Given the description of an element on the screen output the (x, y) to click on. 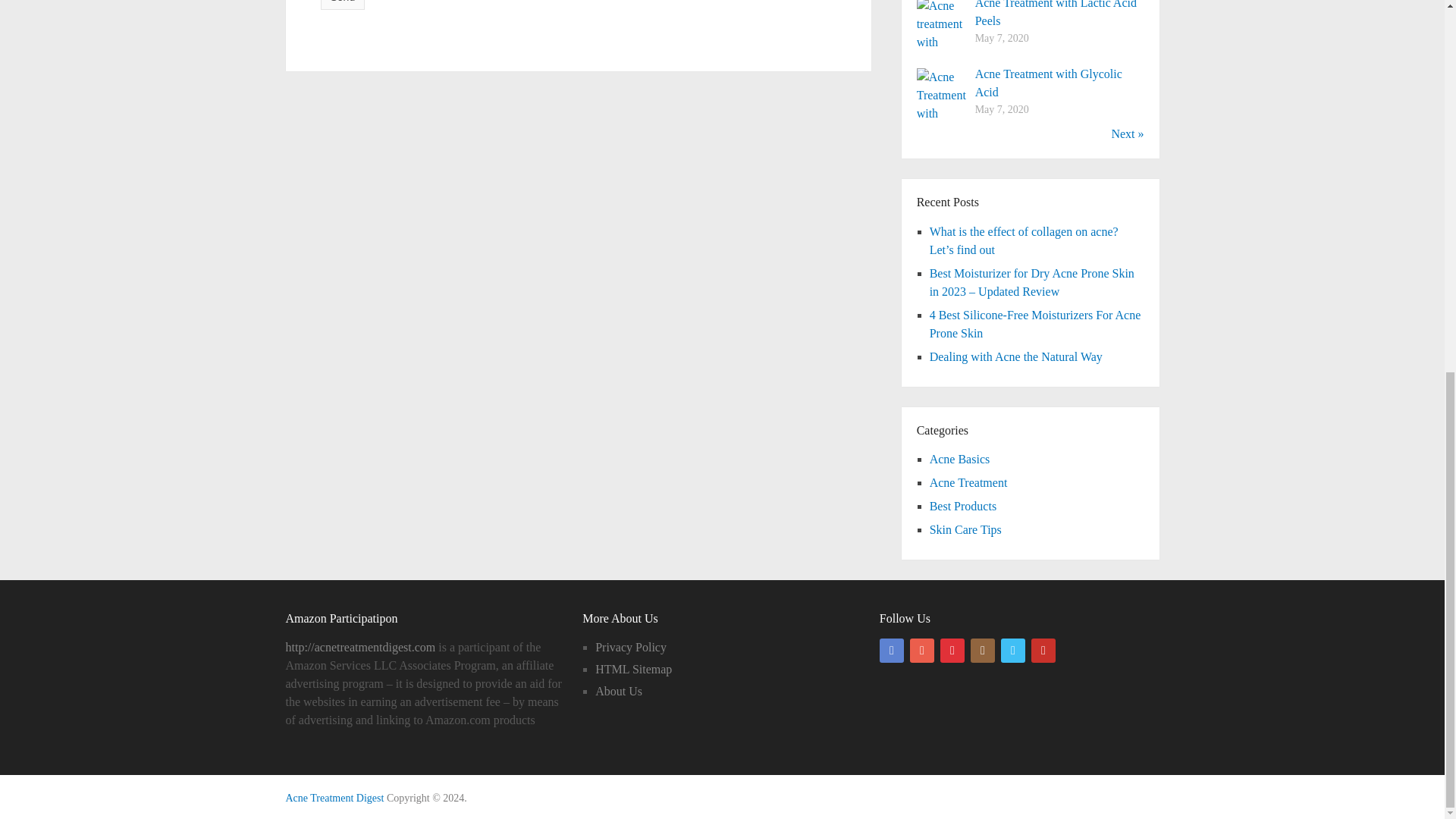
Acne Treatment with Lactic Acid Peels (1056, 13)
Send (342, 4)
Facebook (891, 650)
Acne Treatment with Glycolic Acid (1048, 82)
Send (342, 4)
